Given the description of an element on the screen output the (x, y) to click on. 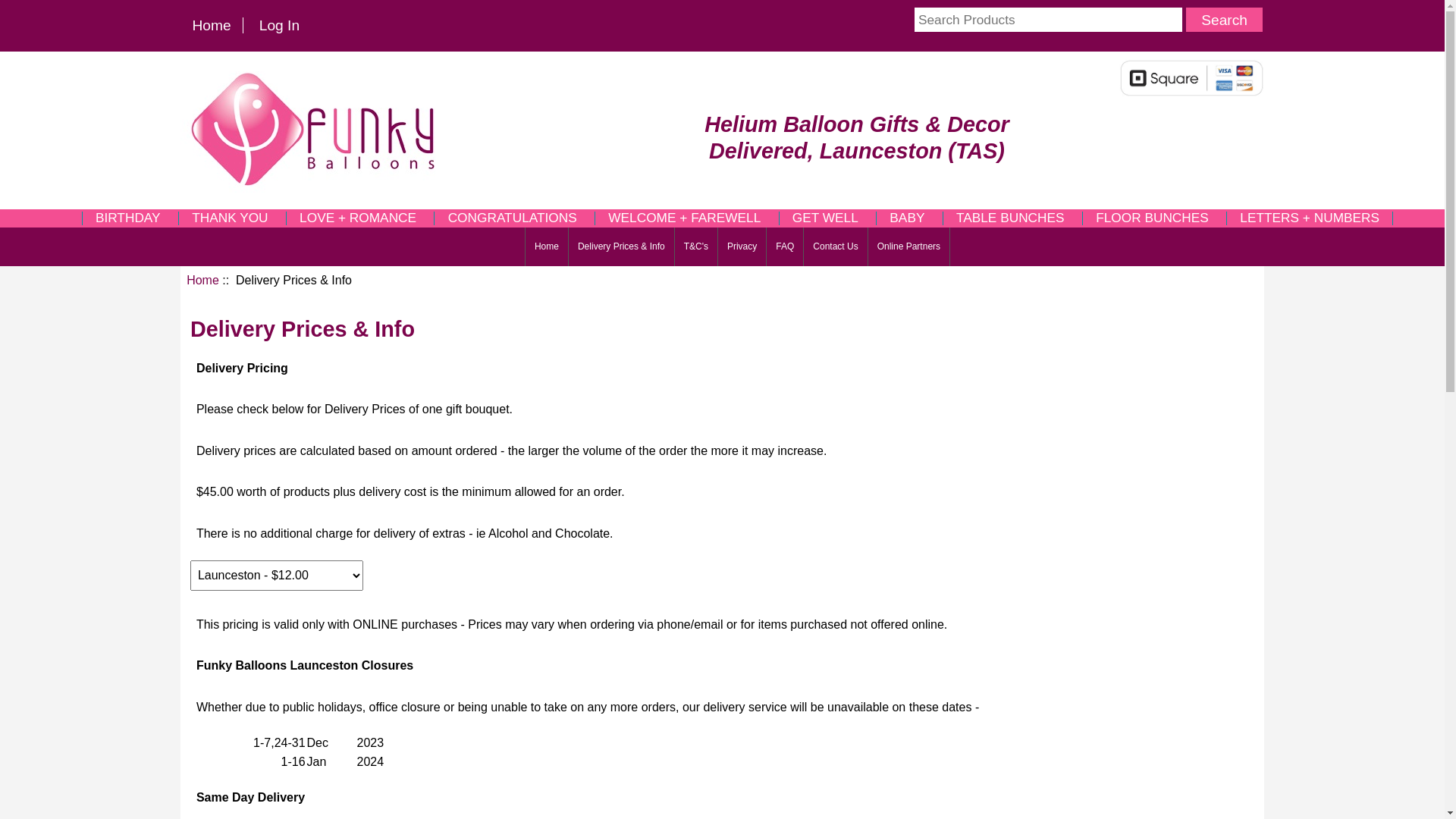
LOVE + ROMANCE Element type: text (357, 217)
T&C's Element type: text (695, 246)
Home Element type: text (202, 279)
Home Element type: text (546, 246)
Contact Us Element type: text (834, 246)
CONGRATULATIONS Element type: text (511, 217)
Privacy Element type: text (741, 246)
WELCOME + FAREWELL Element type: text (684, 217)
THANK YOU Element type: text (229, 217)
 Funky Balloons, Launceston (TAS) - Balloon Delivery Online  Element type: hover (314, 128)
Log In Element type: text (278, 25)
BIRTHDAY Element type: text (127, 217)
BABY Element type: text (907, 217)
GET WELL Element type: text (825, 217)
Home Element type: text (211, 25)
FLOOR BUNCHES Element type: text (1151, 217)
Delivery Prices & Info Element type: text (621, 246)
Online Partners Element type: text (908, 246)
Search Element type: text (1224, 19)
TABLE BUNCHES Element type: text (1010, 217)
FAQ Element type: text (784, 246)
LETTERS + NUMBERS Element type: text (1309, 217)
